Given the description of an element on the screen output the (x, y) to click on. 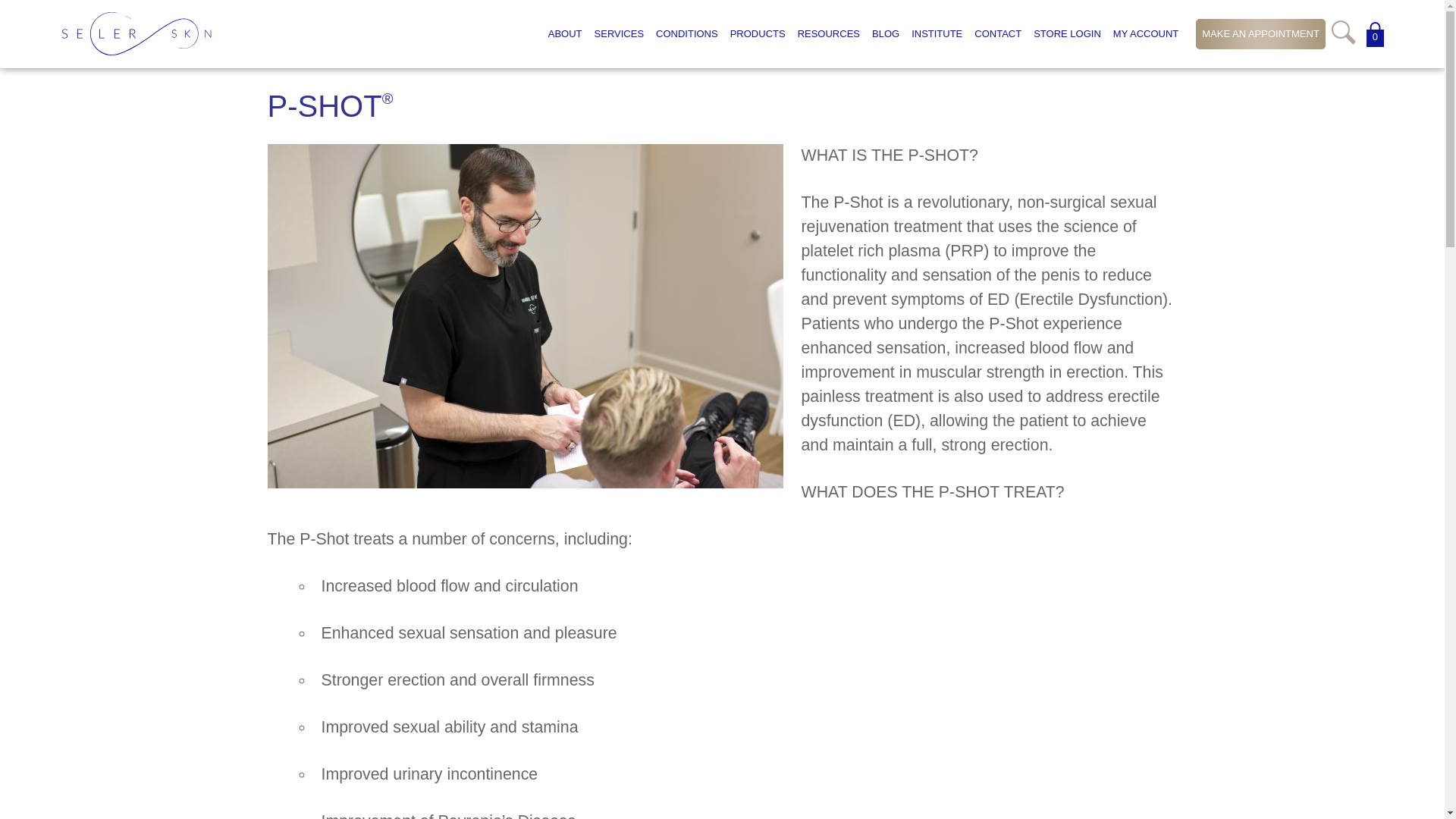
SERVICES (619, 33)
ABOUT (564, 33)
